Given the description of an element on the screen output the (x, y) to click on. 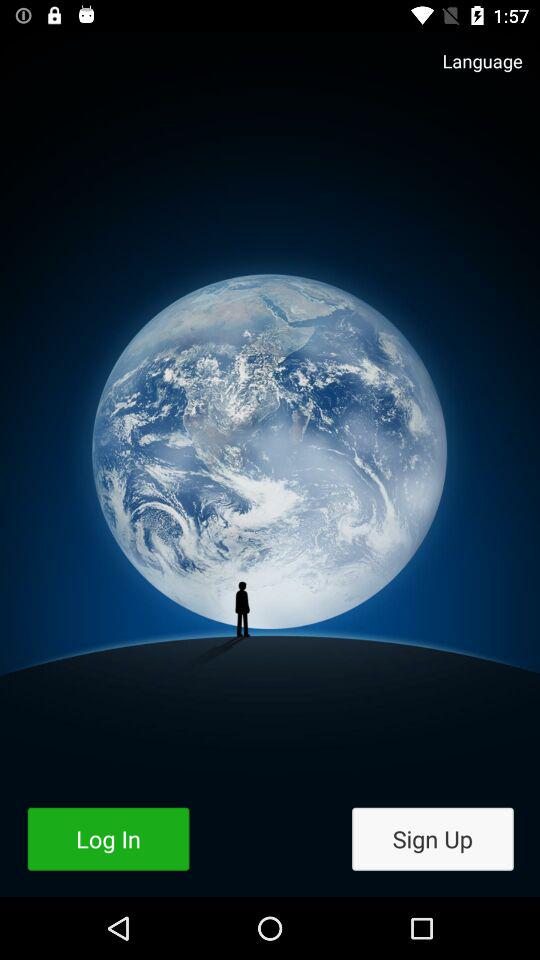
select the item at the bottom left corner (108, 838)
